Given the description of an element on the screen output the (x, y) to click on. 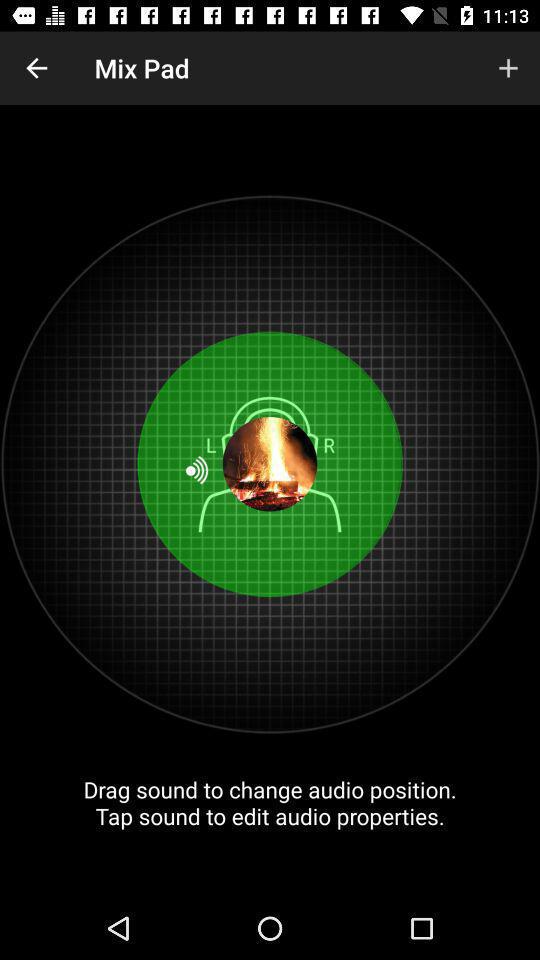
select item above the drag sound to item (36, 68)
